Given the description of an element on the screen output the (x, y) to click on. 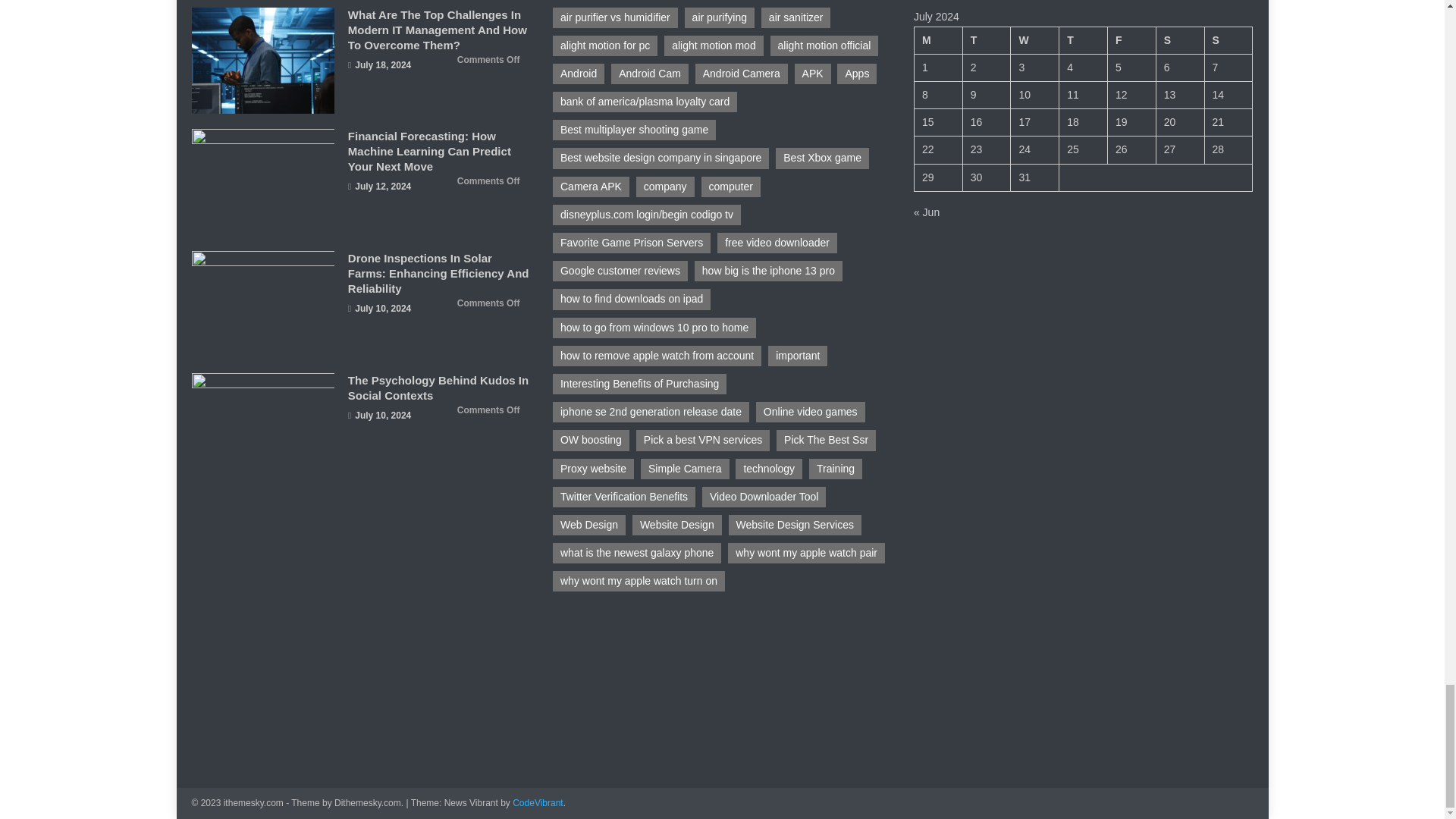
Monday (938, 40)
Saturday (1180, 40)
Friday (1131, 40)
Tuesday (986, 40)
YouTube video player (666, 678)
Wednesday (1034, 40)
Sunday (1228, 40)
Thursday (1083, 40)
